Given the description of an element on the screen output the (x, y) to click on. 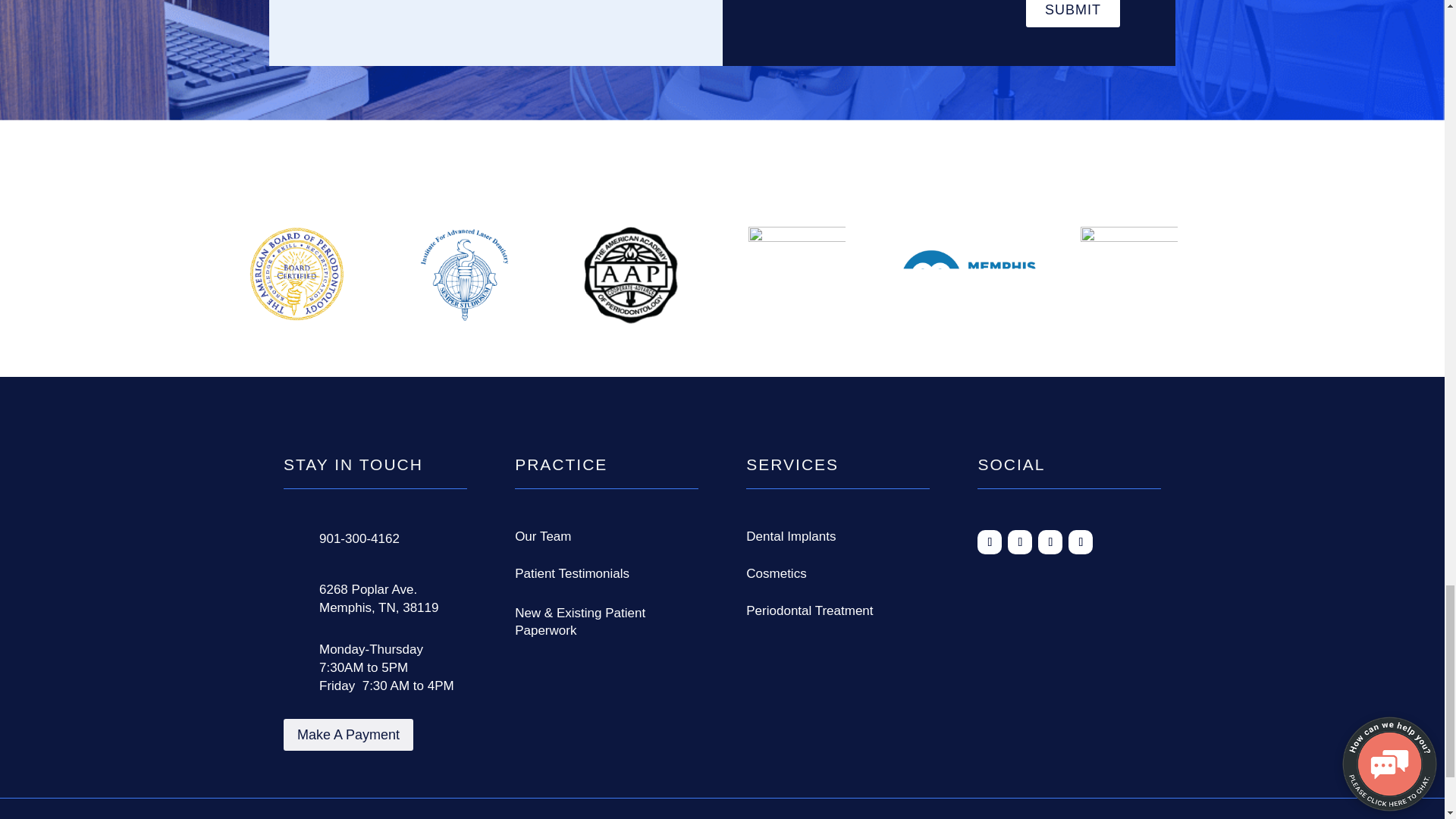
Follow on Instagram (1050, 541)
Follow on Facebook (988, 541)
Follow on Google (1019, 541)
AWARDS footer-35 (297, 274)
Follow on Youtube (1080, 541)
AWARDS footer-39 (967, 281)
AWARDS footer-40 (1128, 278)
AWARDS footer-36 (463, 274)
AWARDS footer-38 (796, 278)
AWARDS footer-37 (630, 274)
